Given the description of an element on the screen output the (x, y) to click on. 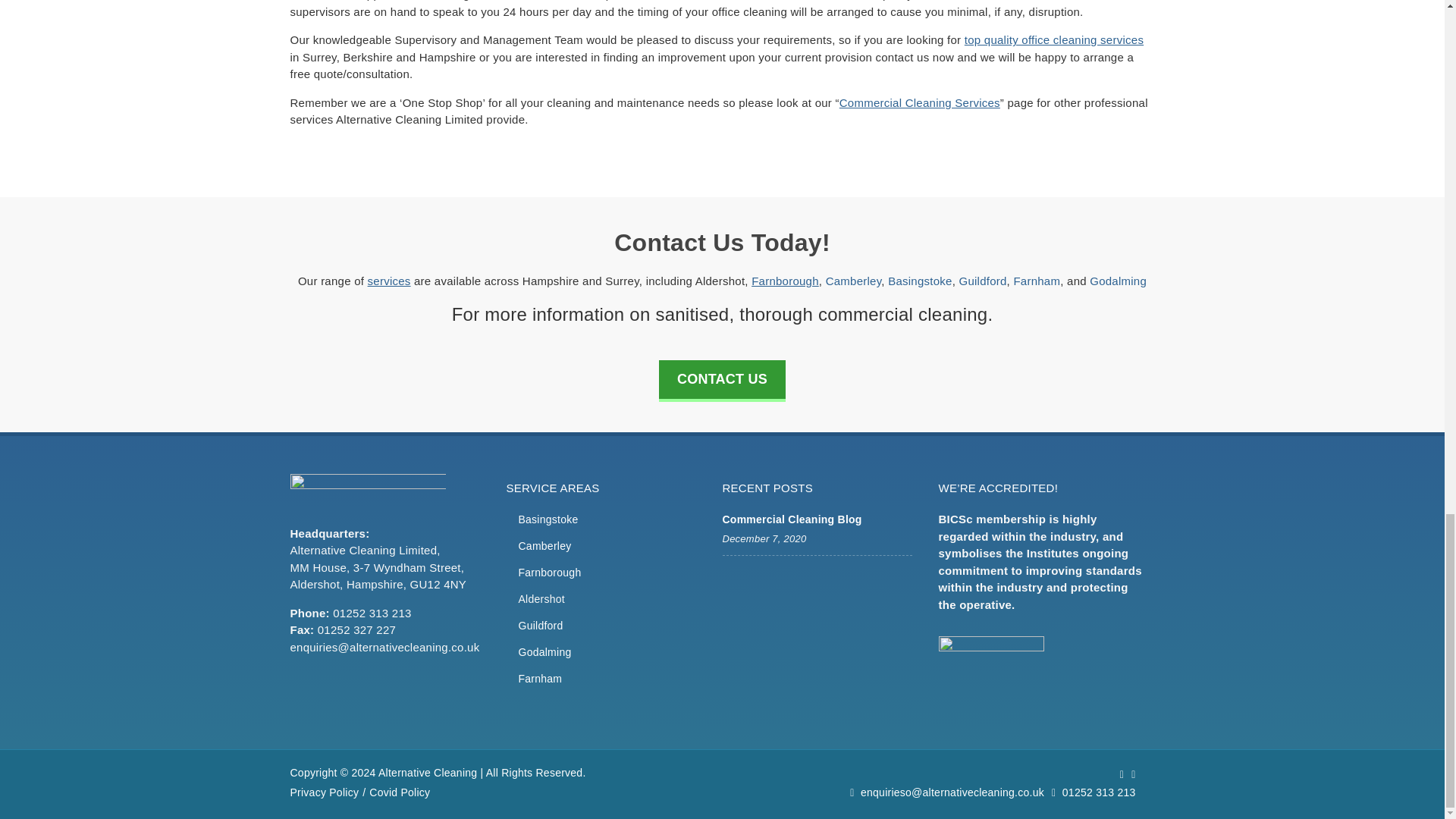
Farnborough (549, 572)
services (389, 280)
Camberley (853, 280)
top quality office cleaning services (1052, 39)
Farnham (1036, 280)
Godalming (1118, 280)
Commercial Cleaning Services (920, 102)
CONTACT US (722, 381)
Guildford (982, 280)
Basingstoke (548, 519)
